Given the description of an element on the screen output the (x, y) to click on. 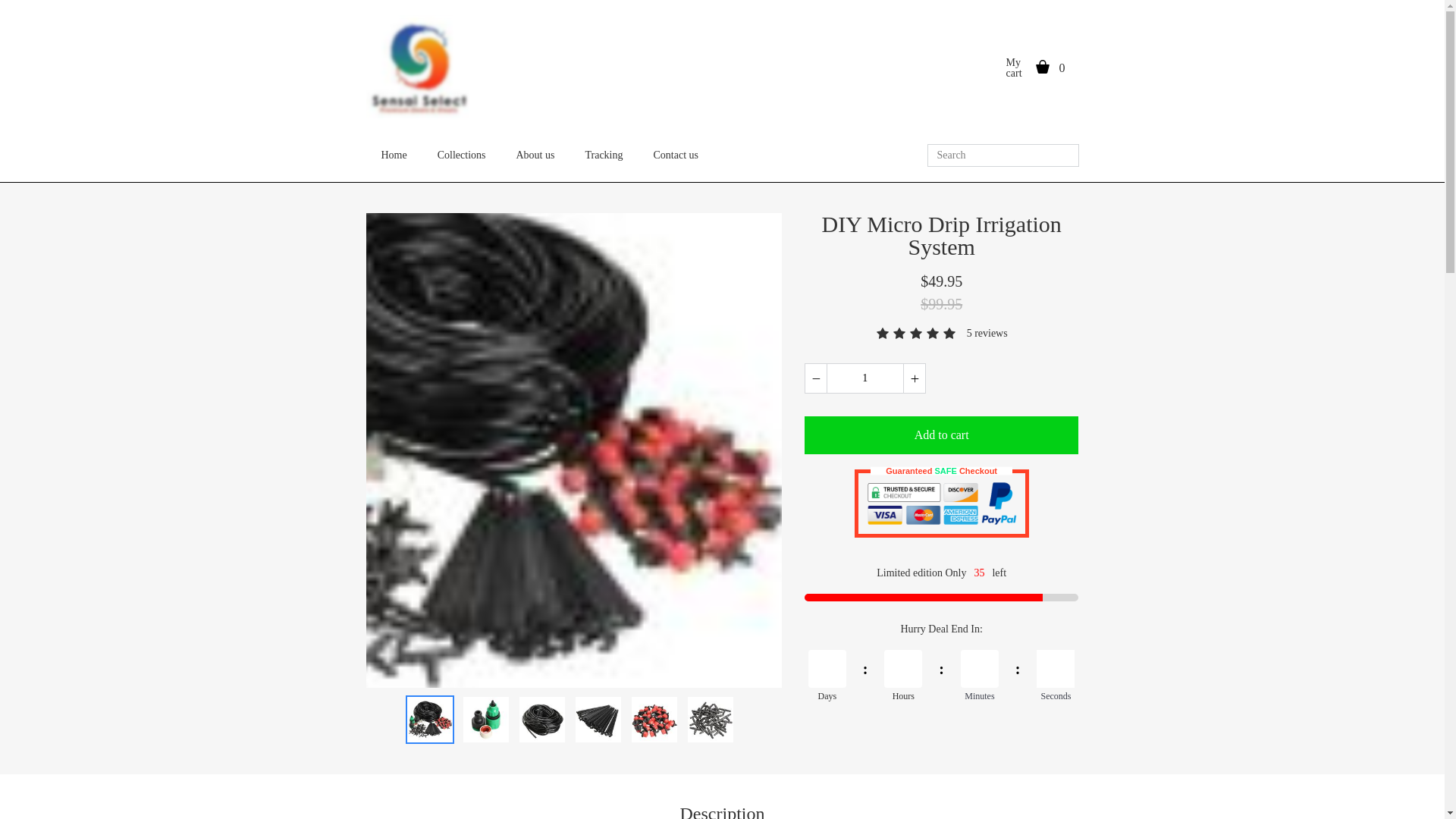
0 (1068, 67)
1 (864, 378)
My cart (1016, 67)
